Given the description of an element on the screen output the (x, y) to click on. 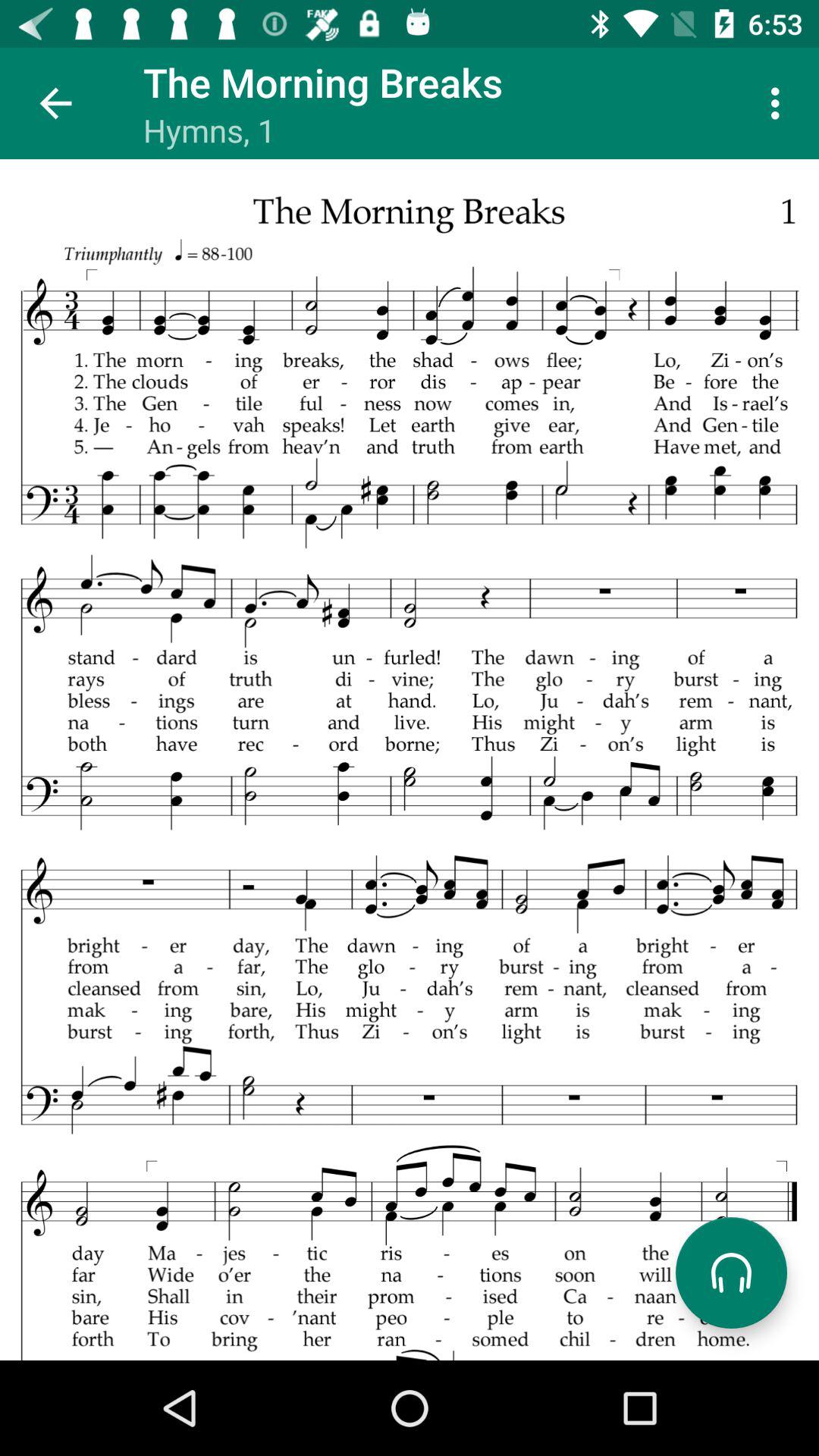
music notes (409, 759)
